Given the description of an element on the screen output the (x, y) to click on. 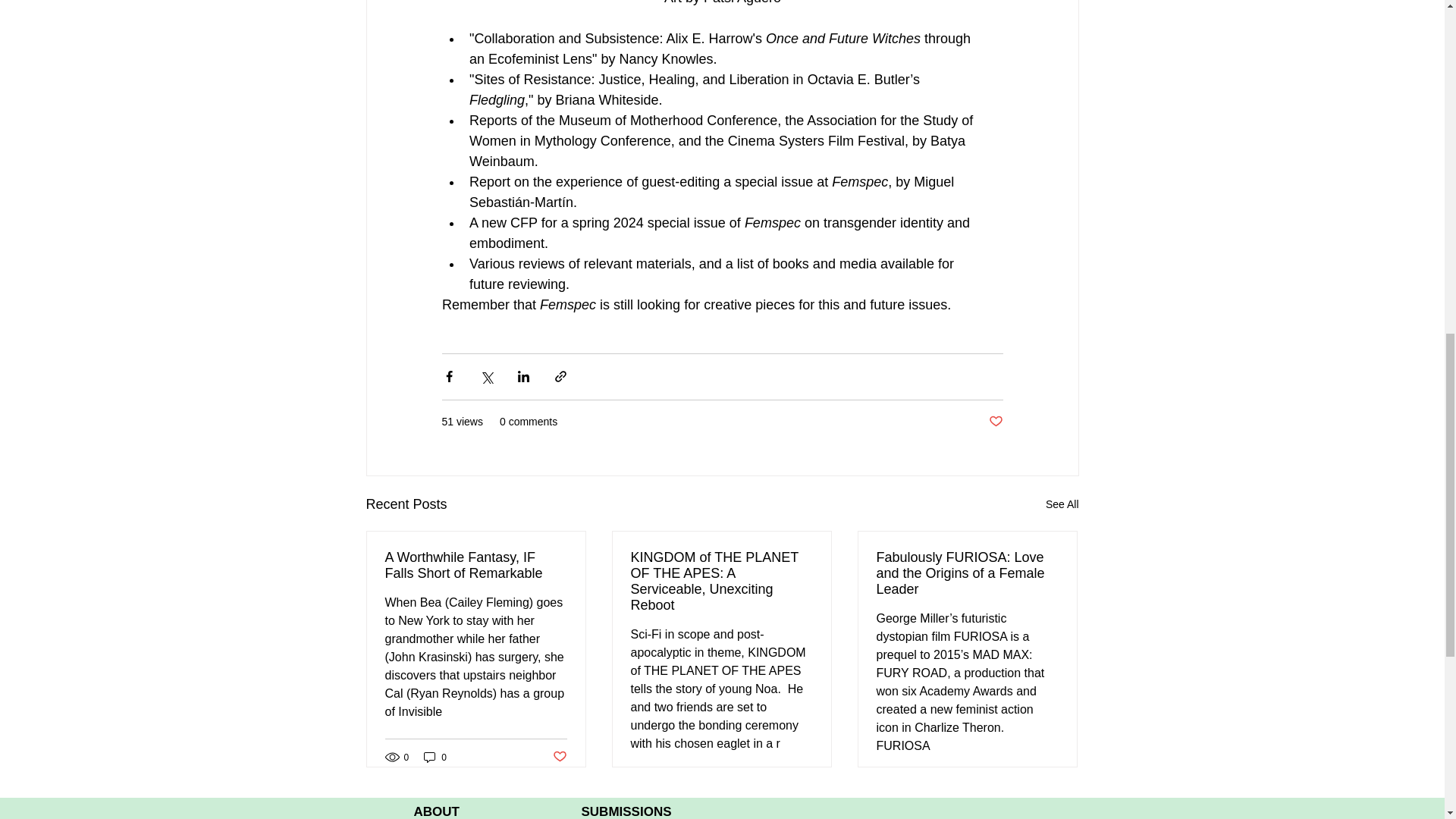
Post not marked as liked (995, 421)
Post not marked as liked (558, 756)
0 (435, 757)
Fabulously FURIOSA: Love and the Origins of a Female Leader (967, 573)
See All (1061, 504)
A Worthwhile Fantasy, IF Falls Short of Remarkable (476, 565)
